Given the description of an element on the screen output the (x, y) to click on. 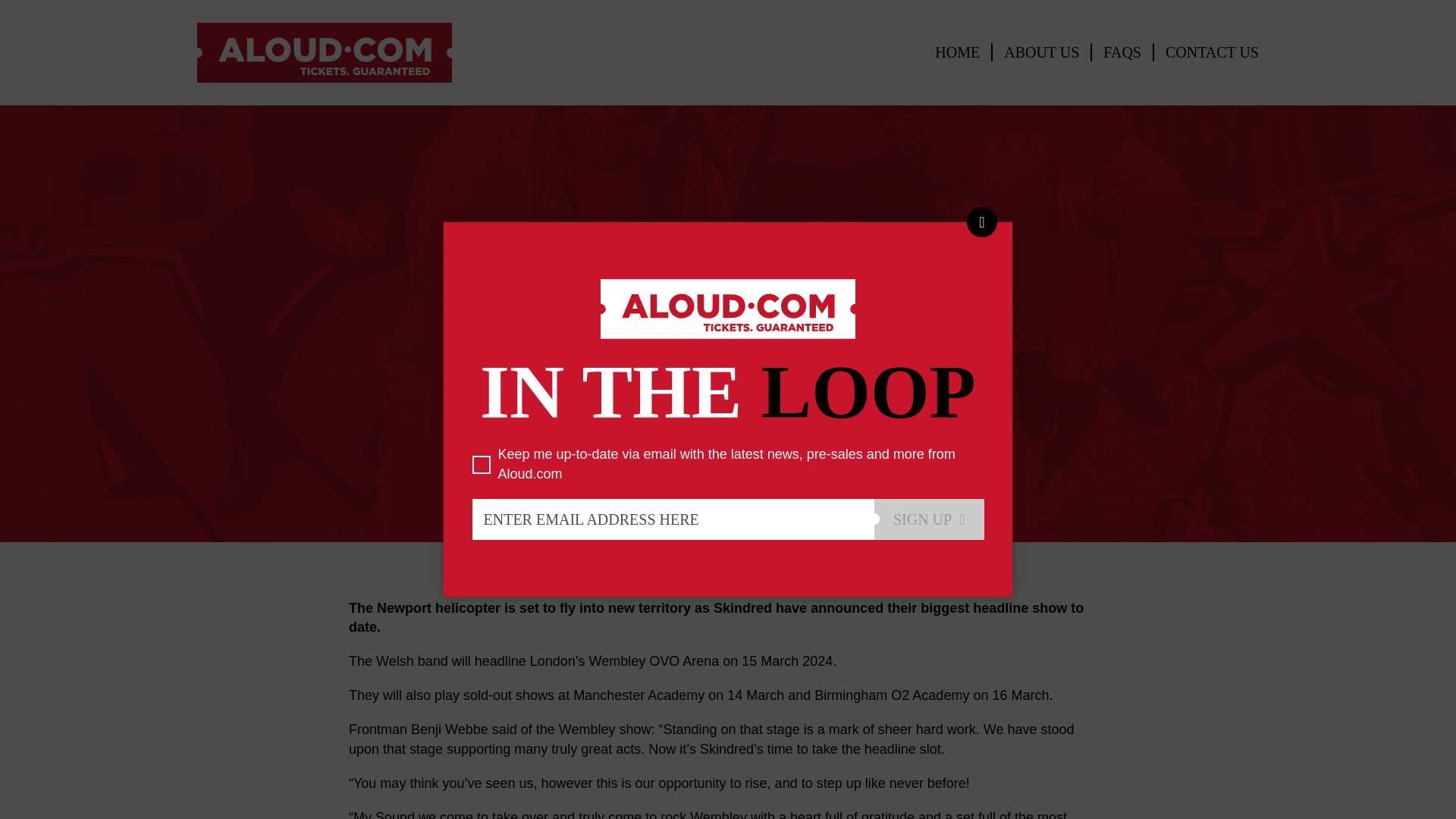
HOME (957, 52)
CONTACT US (1211, 52)
ABOUT US (1041, 52)
FAQS (1122, 52)
